Given the description of an element on the screen output the (x, y) to click on. 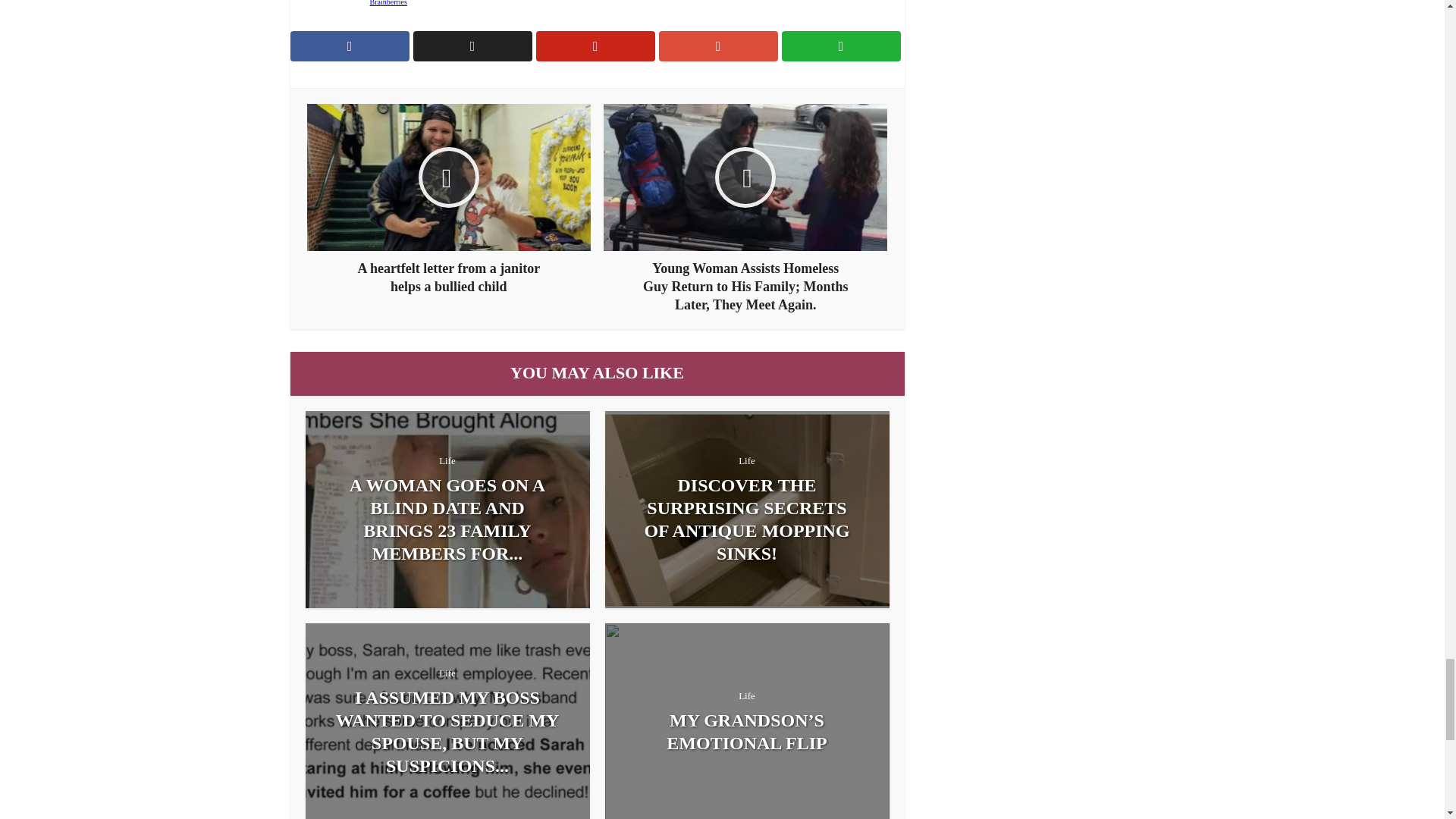
DISCOVER THE SURPRISING SECRETS OF ANTIQUE MOPPING SINKS! (747, 519)
Life (446, 460)
Life (746, 695)
Life (446, 672)
A heartfelt letter from a janitor helps a bullied child (449, 199)
Discover the surprising secrets of antique mopping sinks! (747, 519)
Life (746, 460)
